Given the description of an element on the screen output the (x, y) to click on. 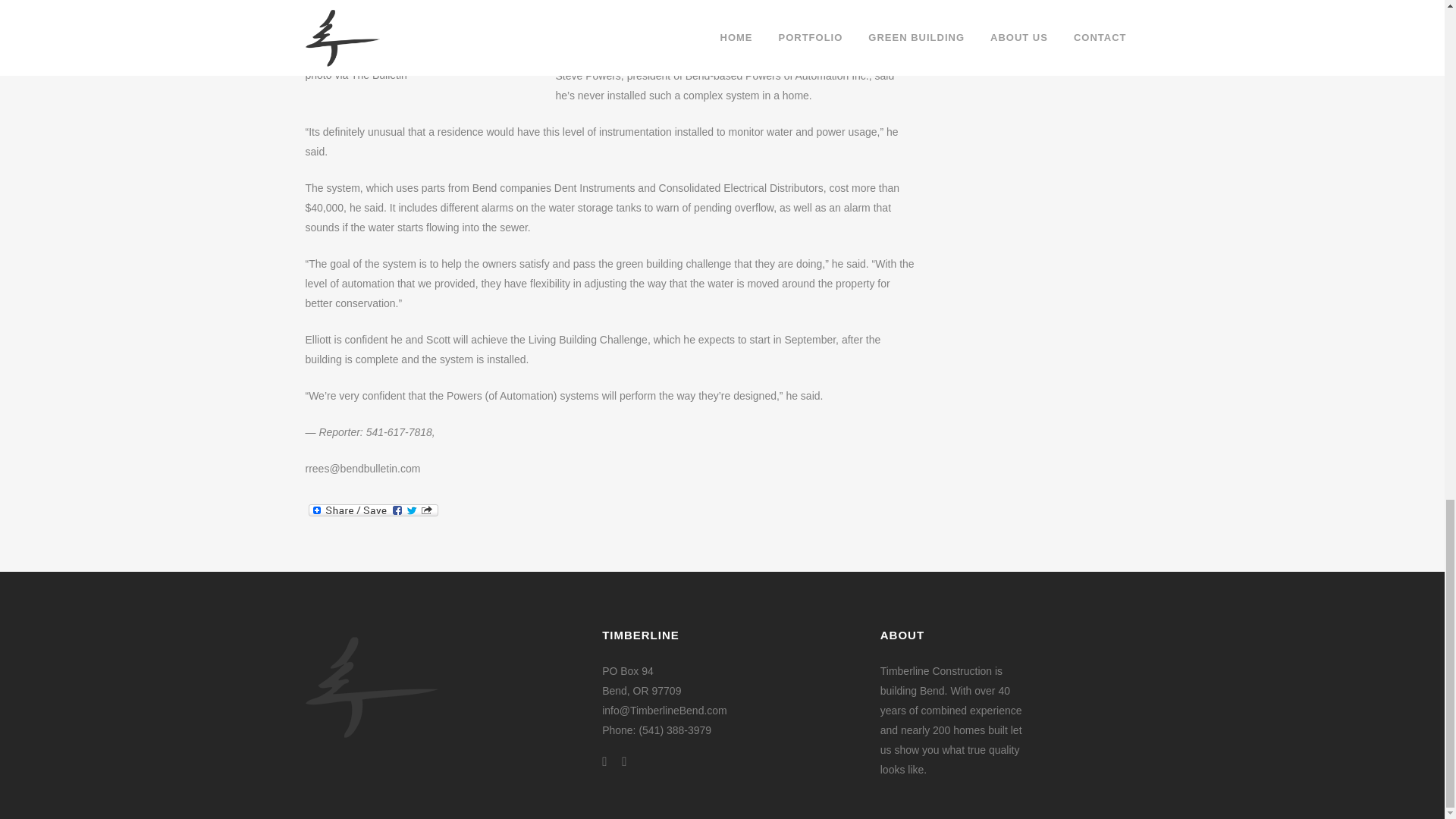
DR Bulletin pic 03 (418, 32)
